Given the description of an element on the screen output the (x, y) to click on. 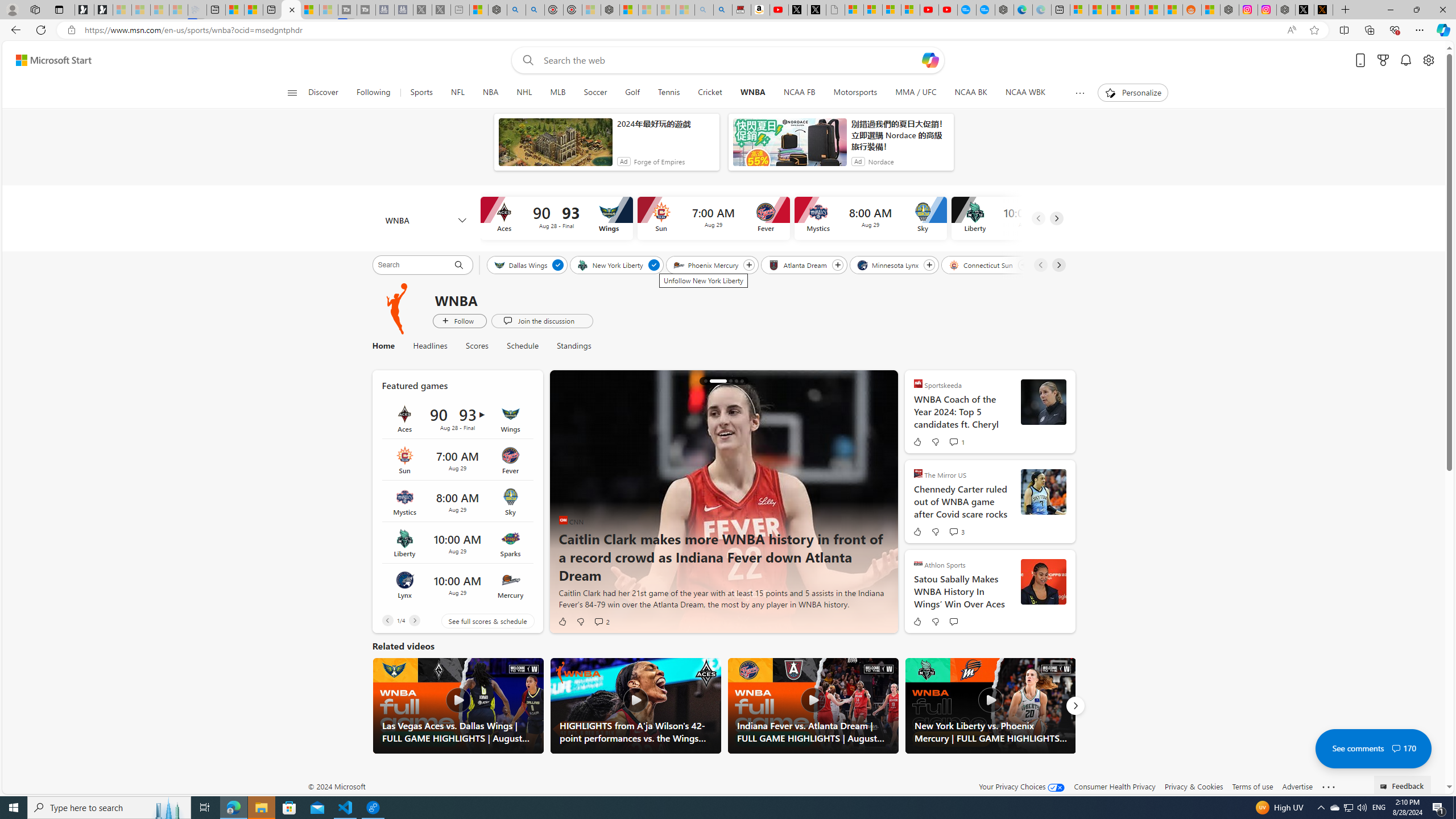
New tab - Sleeping (459, 9)
Tennis (668, 92)
Newsletter Sign Up (102, 9)
NCAA BK (970, 92)
MMA / UFC (916, 92)
See comments 170 (1372, 748)
NCAA BK (969, 92)
